Given the description of an element on the screen output the (x, y) to click on. 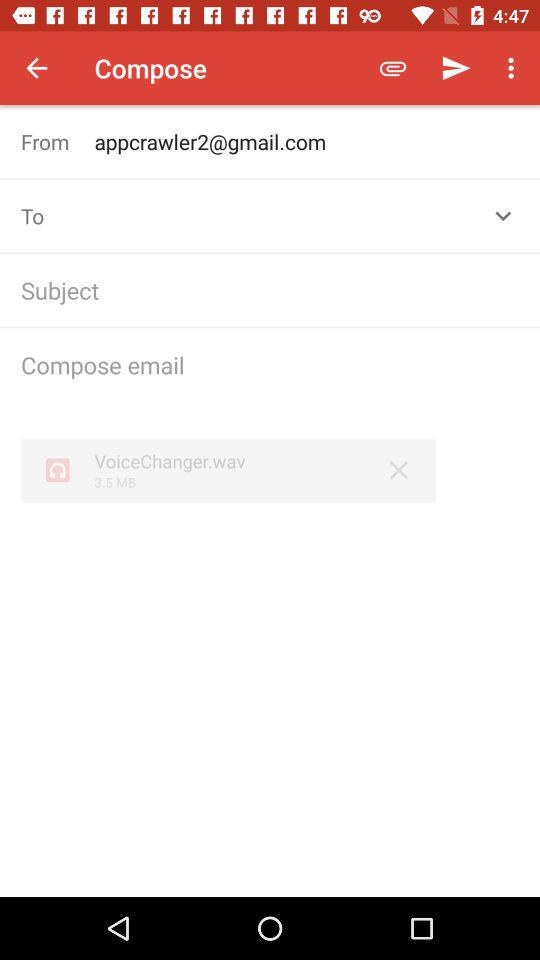
turn on the from icon (57, 141)
